Given the description of an element on the screen output the (x, y) to click on. 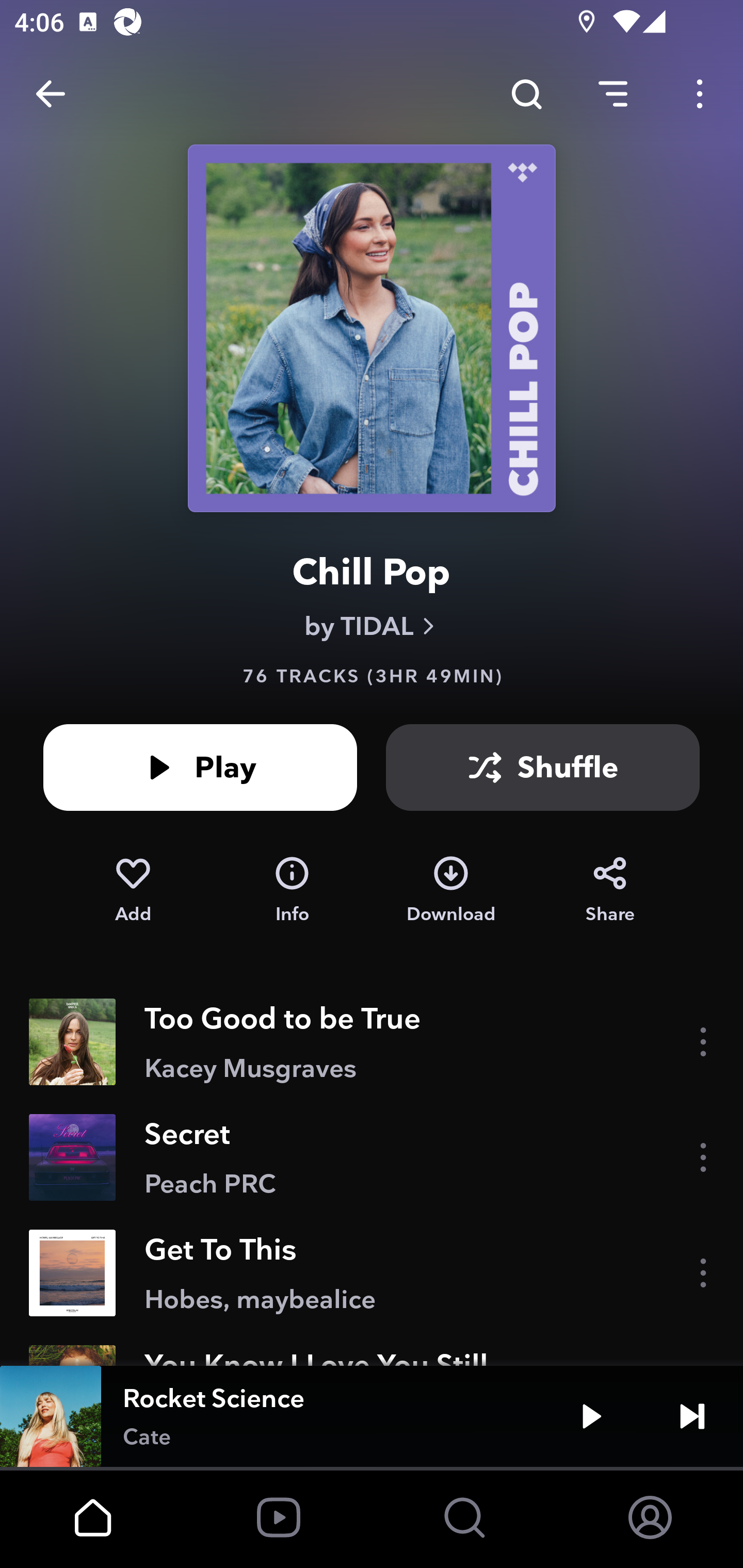
Back (50, 93)
Search (525, 93)
Sorting (612, 93)
Options (699, 93)
by TIDAL (371, 625)
Play (200, 767)
Shuffle (542, 767)
Add (132, 890)
Info (291, 890)
Download (450, 890)
Share (609, 890)
Too Good to be True Kacey Musgraves (371, 1041)
Secret Peach PRC (371, 1157)
Get To This Hobes, maybealice (371, 1273)
Rocket Science Cate Play (371, 1416)
Play (590, 1416)
